Given the description of an element on the screen output the (x, y) to click on. 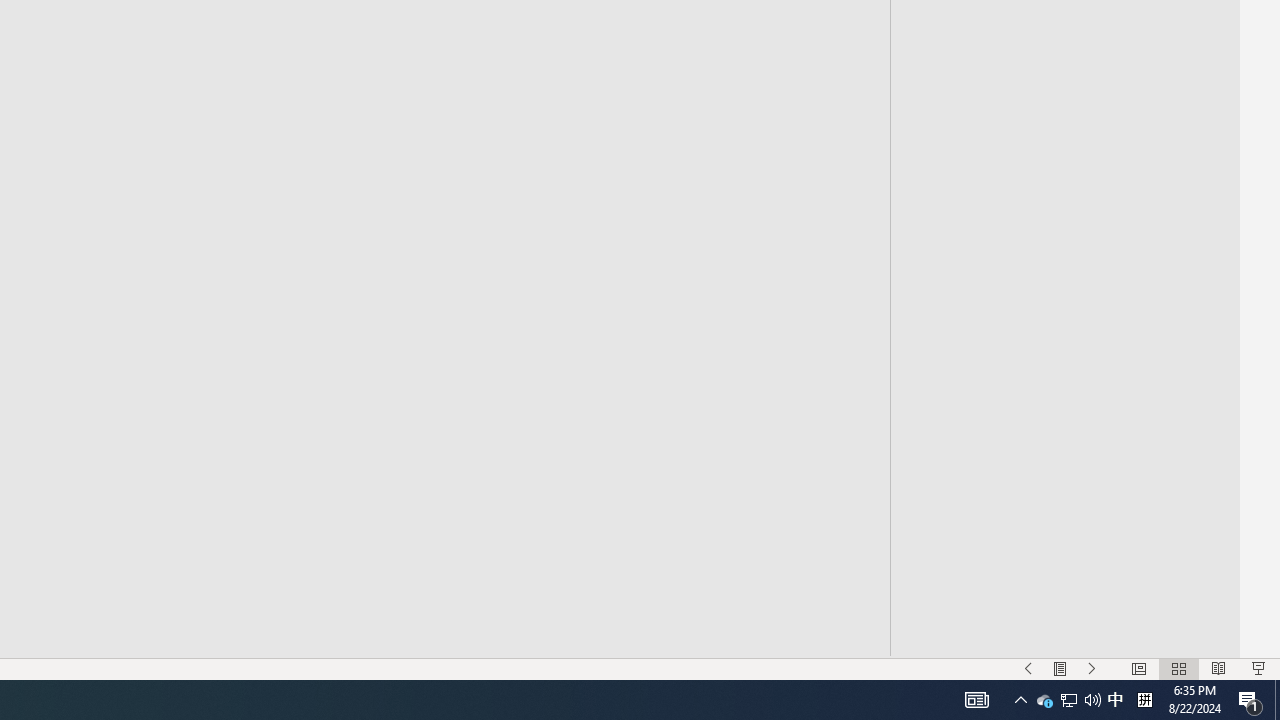
Slide Show Next On (1092, 668)
Slide Show Previous On (1028, 668)
Menu On (1060, 668)
